Given the description of an element on the screen output the (x, y) to click on. 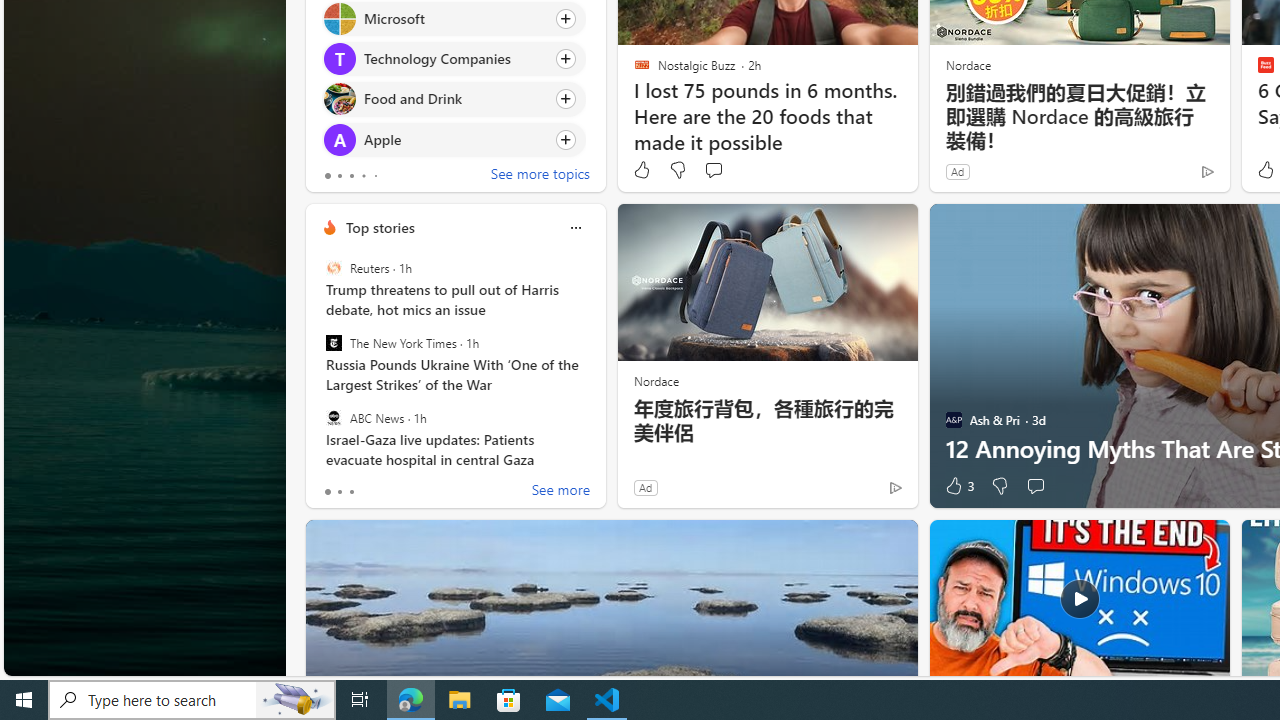
Microsoft (338, 18)
Click to follow topic Microsoft (453, 18)
